Given the description of an element on the screen output the (x, y) to click on. 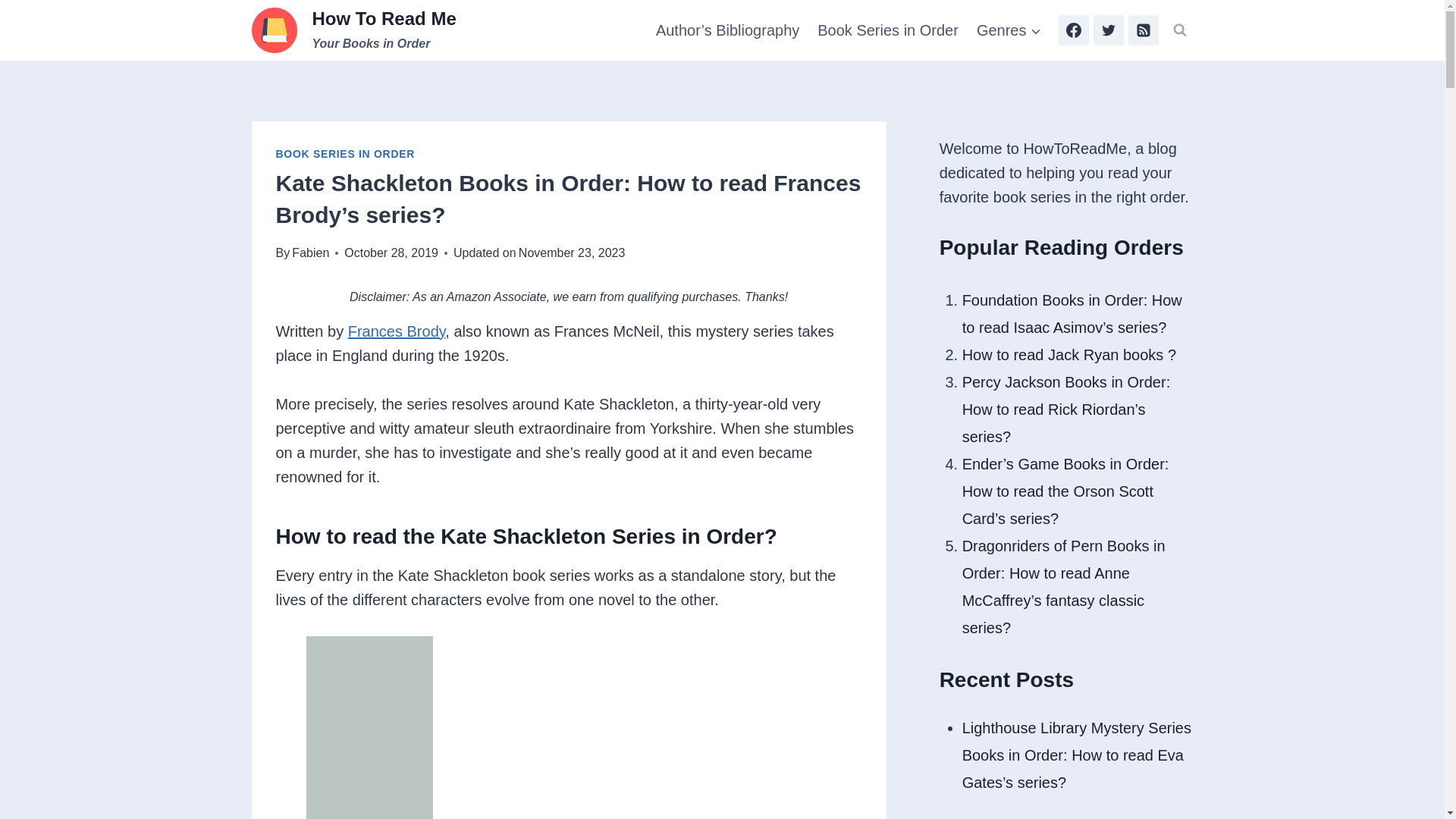
Fabien (310, 252)
Frances Brody (354, 30)
Skip to content (396, 330)
BOOK SERIES IN ORDER (888, 30)
Genres (345, 153)
